Given the description of an element on the screen output the (x, y) to click on. 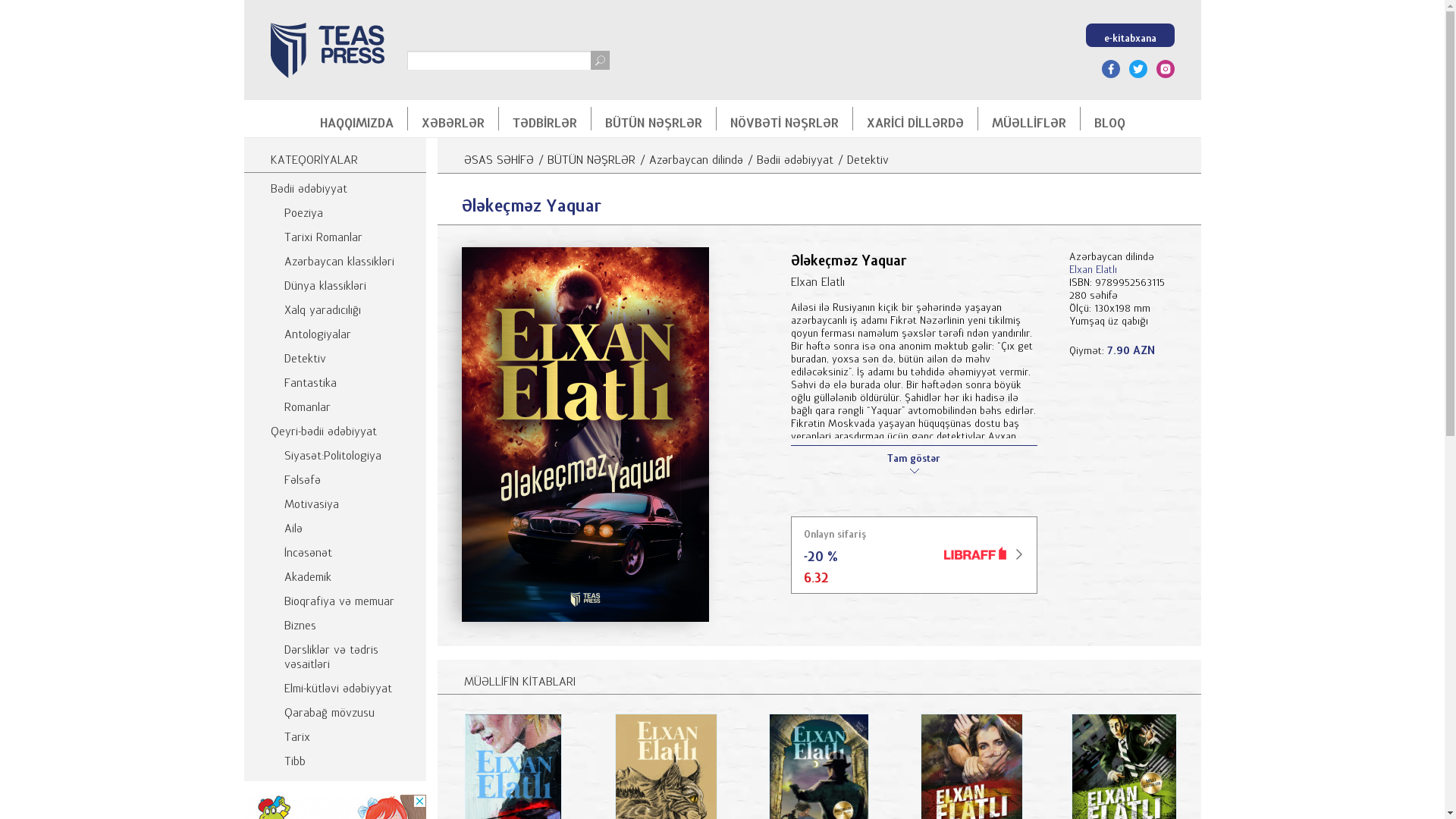
Akademik Element type: text (335, 573)
Tarix Element type: text (335, 733)
e-kitabxana Element type: text (1129, 35)
Detektiv Element type: text (867, 155)
Fantastika Element type: text (335, 379)
BLOQ Element type: text (1109, 118)
Poeziya Element type: text (335, 209)
Tibb Element type: text (335, 757)
HAQQIMIZDA Element type: text (356, 118)
Motivasiya Element type: text (335, 500)
Tarixi Romanlar Element type: text (335, 233)
Romanlar Element type: text (335, 403)
Detektiv Element type: text (335, 354)
Biznes Element type: text (335, 621)
Antologiyalar Element type: text (335, 330)
